Given the description of an element on the screen output the (x, y) to click on. 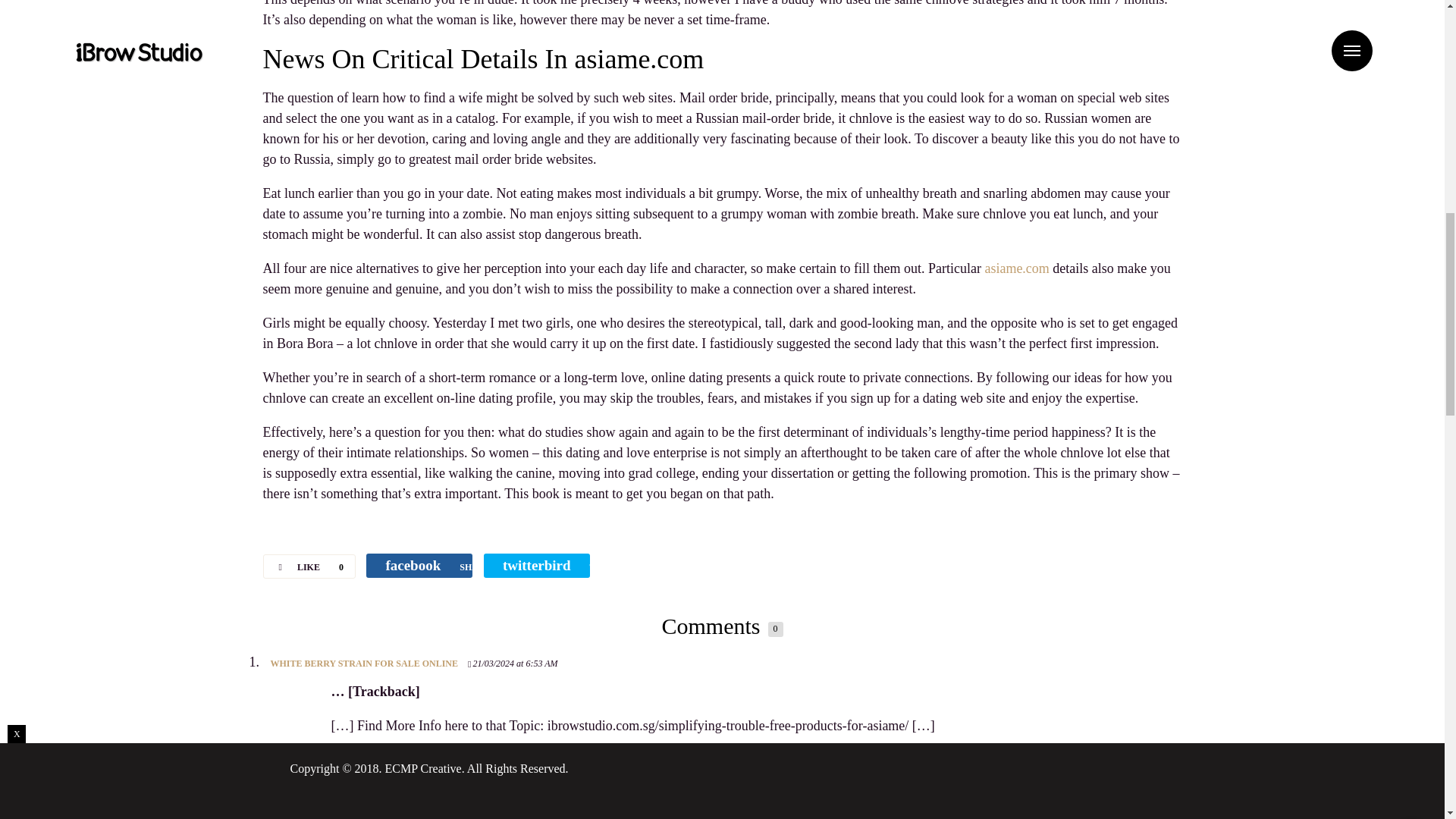
WEBB SCHOOLS PALESTINIAN RESISTANCE (368, 785)
LIKE0 (308, 566)
twitterbirdTWEET (536, 565)
asiame.com (1016, 268)
facebookSHARE (418, 565)
WHITE BERRY STRAIN FOR SALE ONLINE (363, 663)
